Given the description of an element on the screen output the (x, y) to click on. 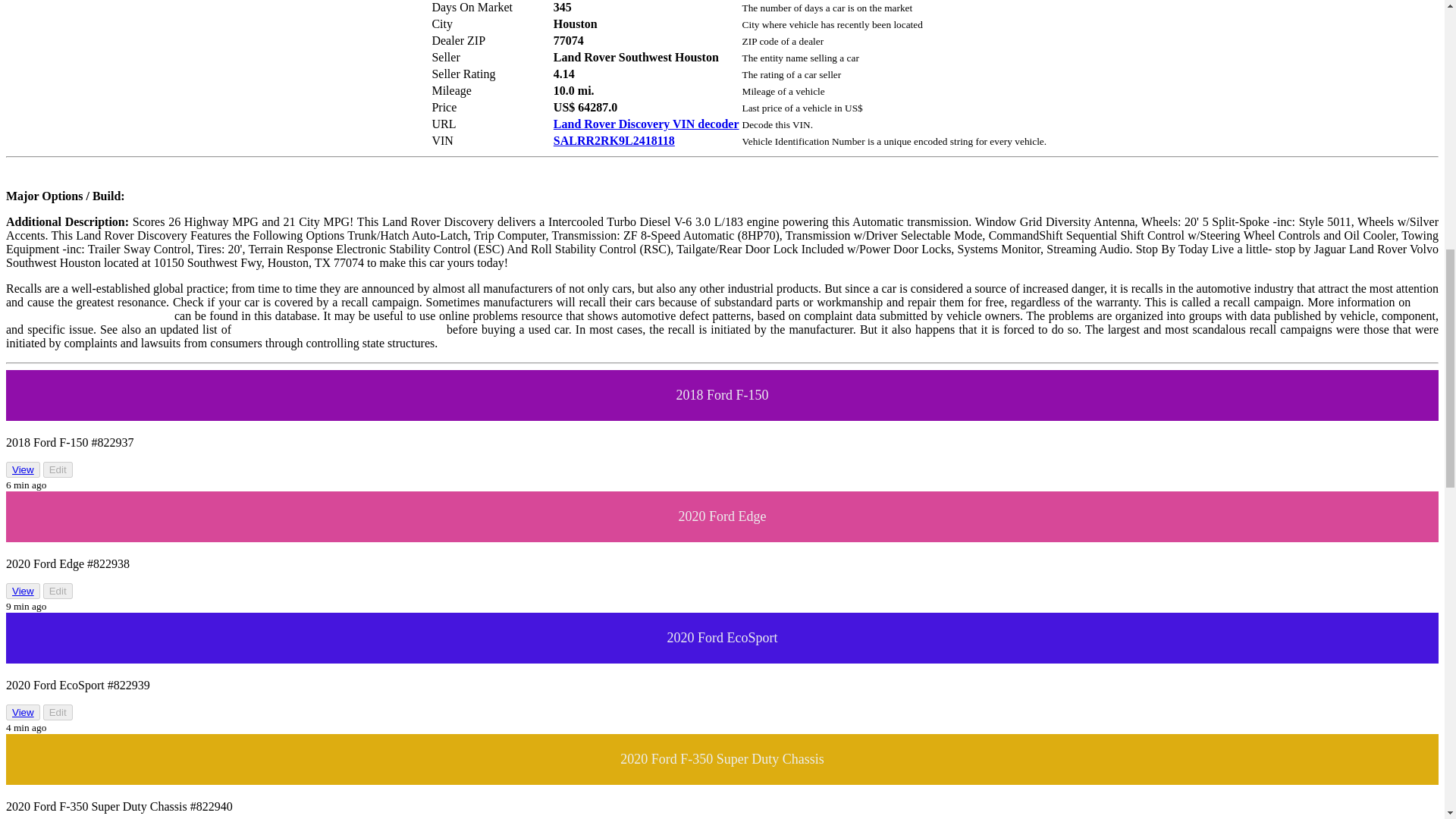
SALRR2RK9L2418118 (614, 140)
View (22, 712)
Edit (57, 712)
Edit (57, 590)
View (22, 591)
2020 Land Rover DISCOVERY problems (338, 328)
2020 Land Rover DISCOVERY problems (338, 328)
Edit (57, 469)
Get Report for SALRR2RK9L2418118 (614, 140)
View (22, 712)
